Given the description of an element on the screen output the (x, y) to click on. 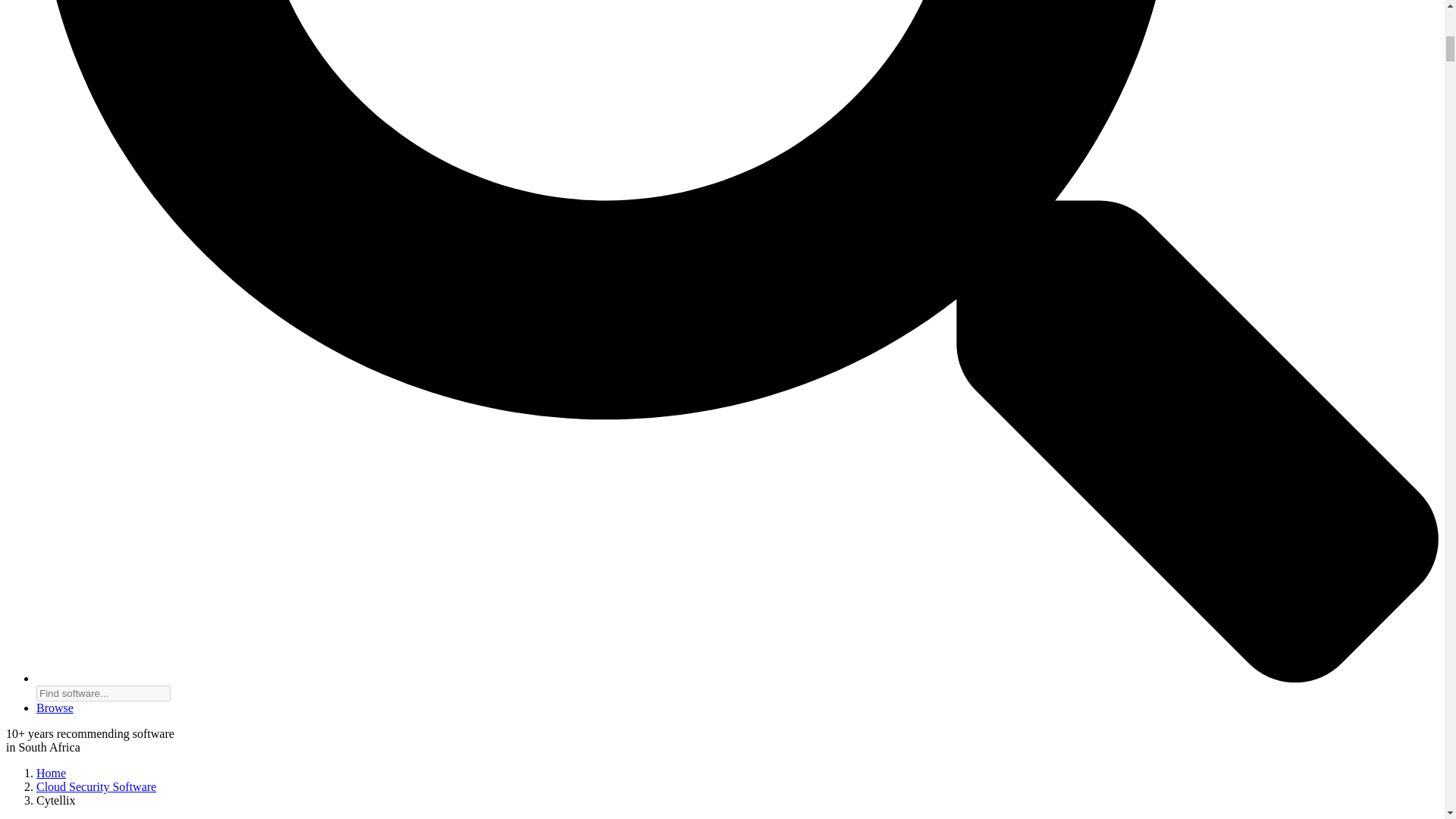
Browse (55, 707)
Home (50, 772)
Cloud Security Software (95, 786)
